Given the description of an element on the screen output the (x, y) to click on. 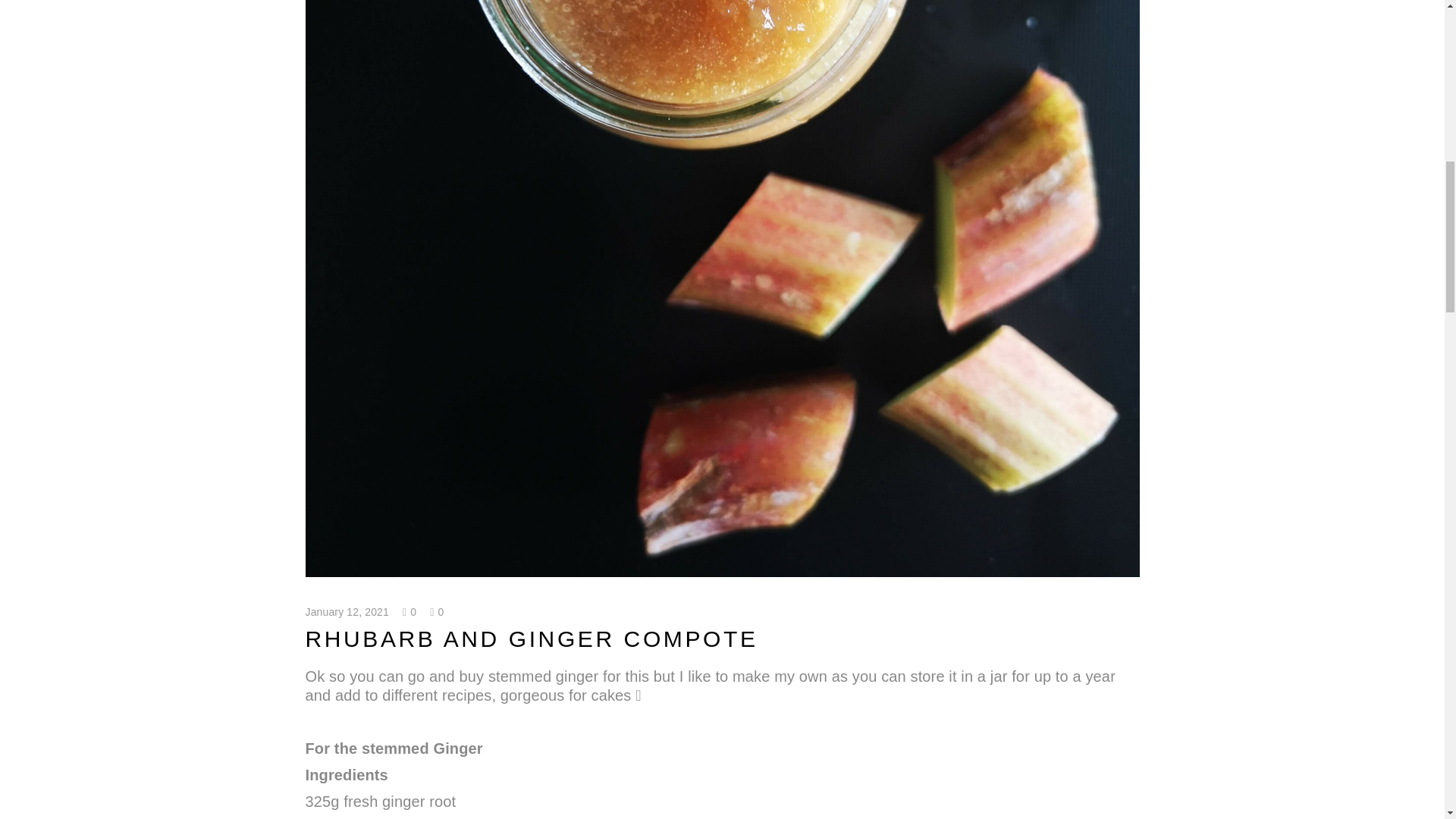
Like this (409, 612)
